Given the description of an element on the screen output the (x, y) to click on. 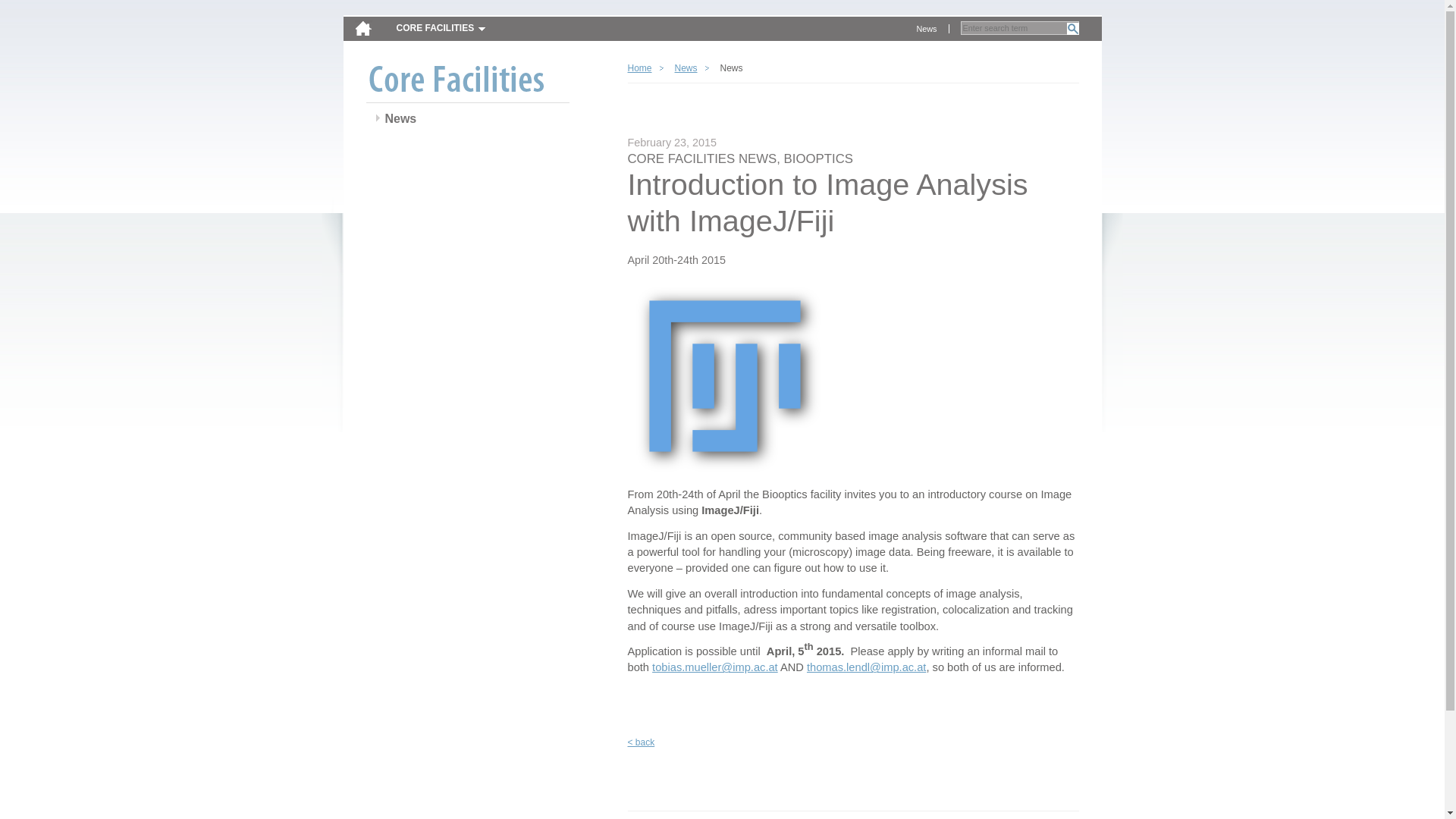
Home (645, 67)
News (686, 67)
News (400, 119)
Search (1071, 28)
News (927, 28)
News (400, 119)
Search (1071, 28)
Search (1071, 28)
News (927, 28)
